Given the description of an element on the screen output the (x, y) to click on. 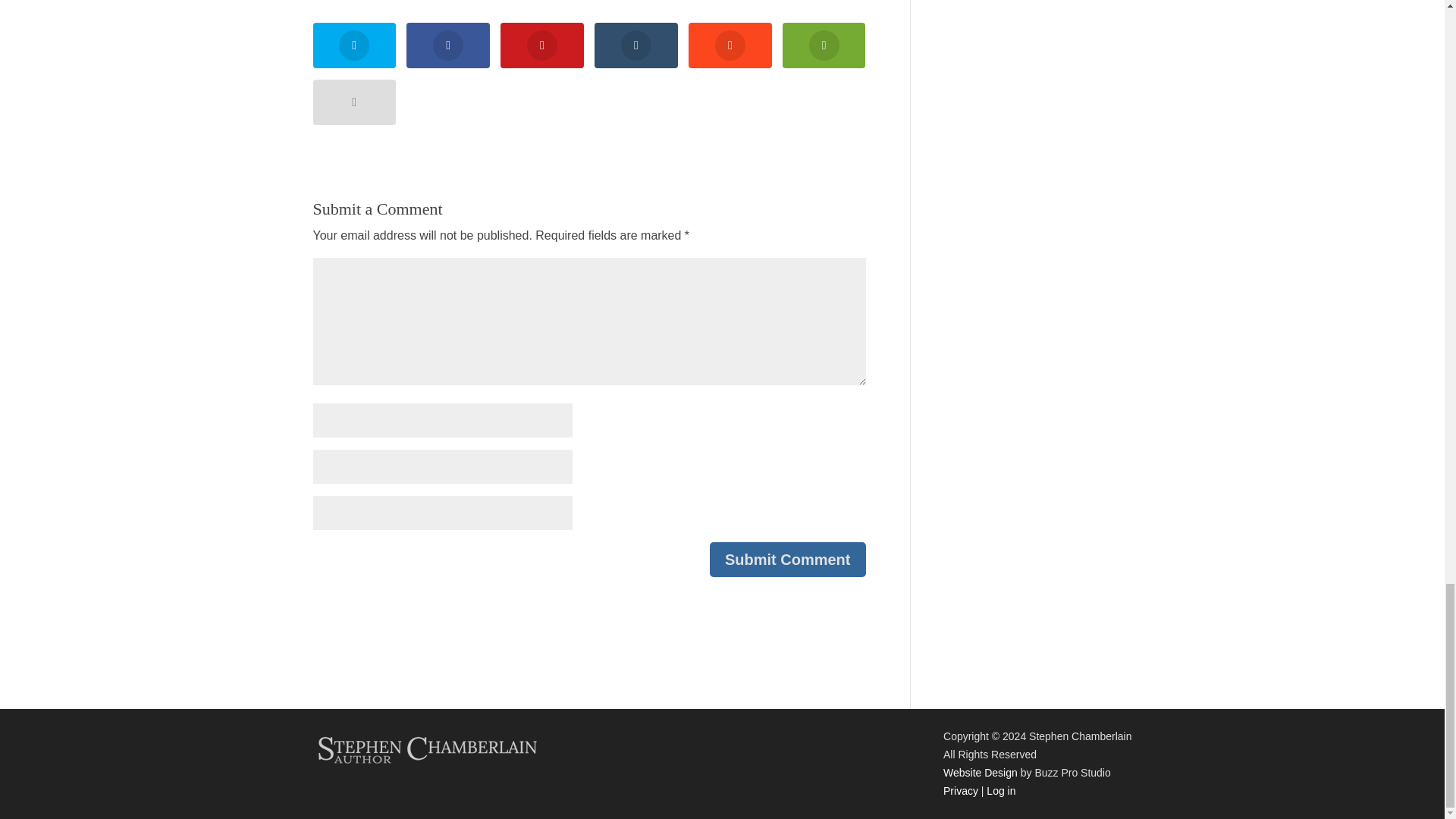
website design (980, 772)
Submit Comment (788, 559)
